Given the description of an element on the screen output the (x, y) to click on. 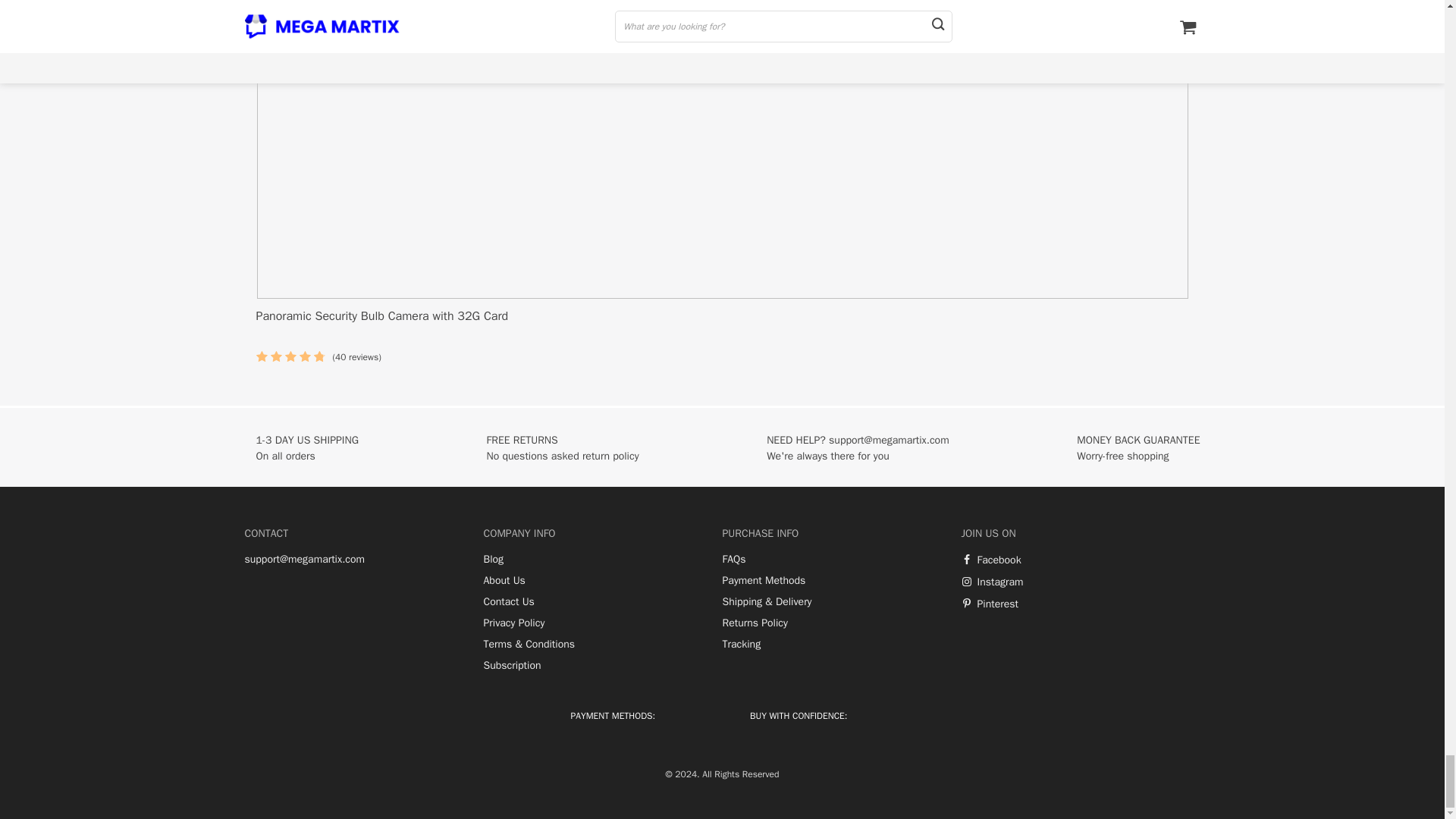
Returns Policy (754, 622)
Subscription (512, 665)
Blog (493, 559)
Privacy Policy (513, 622)
Instagram (991, 581)
Contact Us (508, 602)
Payment Methods (763, 581)
FAQs (733, 559)
About Us (504, 581)
Facebook (991, 560)
